Given the description of an element on the screen output the (x, y) to click on. 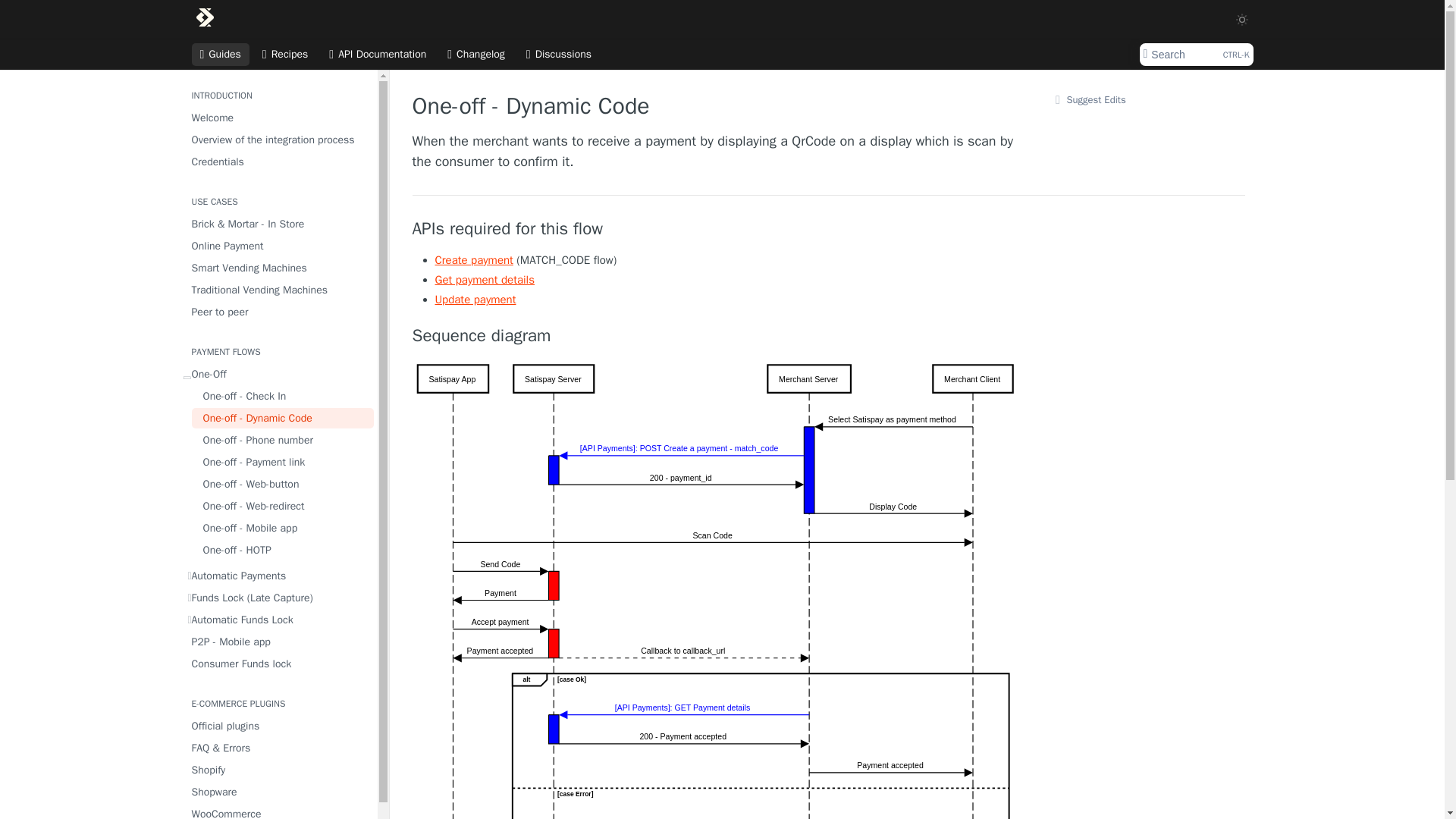
Peer to peer (277, 312)
One-off - Payment link (281, 462)
Online Payment (277, 245)
Credentials (277, 161)
One-off - Phone number (281, 439)
Guides (219, 54)
API Documentation (376, 54)
One-off - Web-redirect (281, 506)
Sequence diagram (715, 335)
Changelog (476, 54)
